Given the description of an element on the screen output the (x, y) to click on. 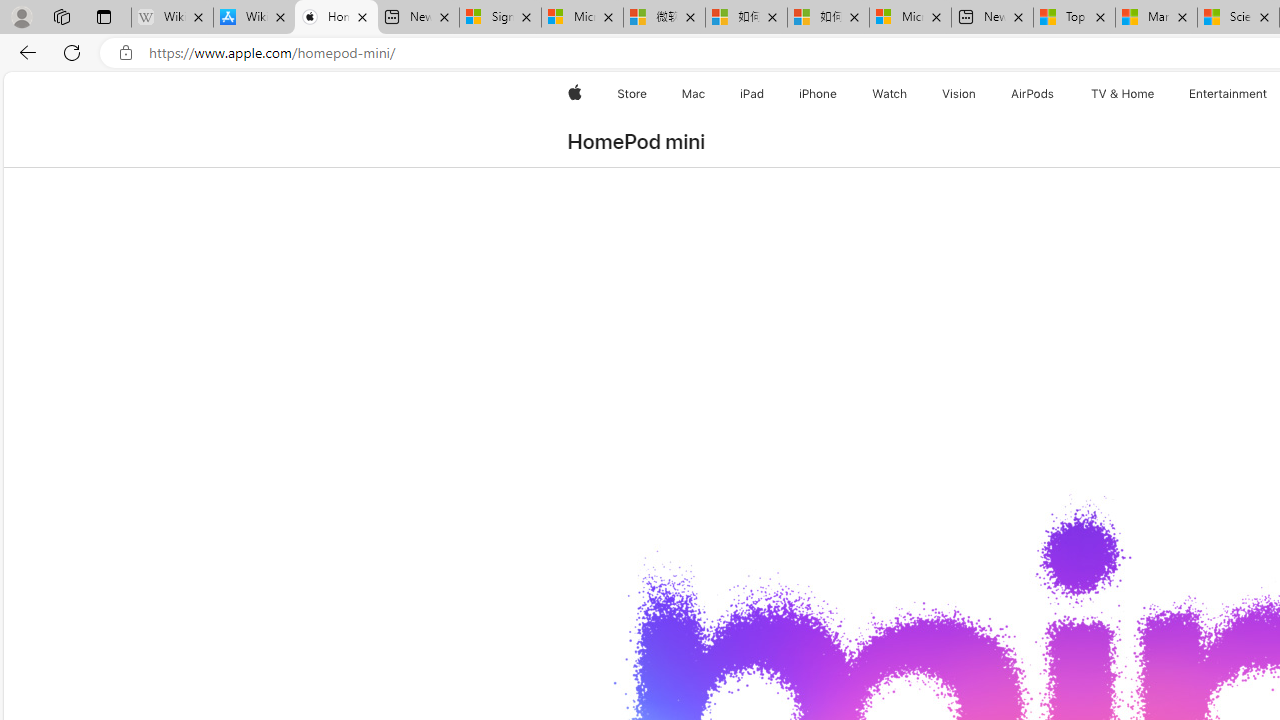
HomePod mini - Apple (336, 17)
AirPods (1032, 93)
Apple (574, 93)
Store menu (649, 93)
Apple (574, 93)
Mac (692, 93)
Class: globalnav-submenu-trigger-item (1157, 93)
Mac menu (708, 93)
iPad menu (767, 93)
